Given the description of an element on the screen output the (x, y) to click on. 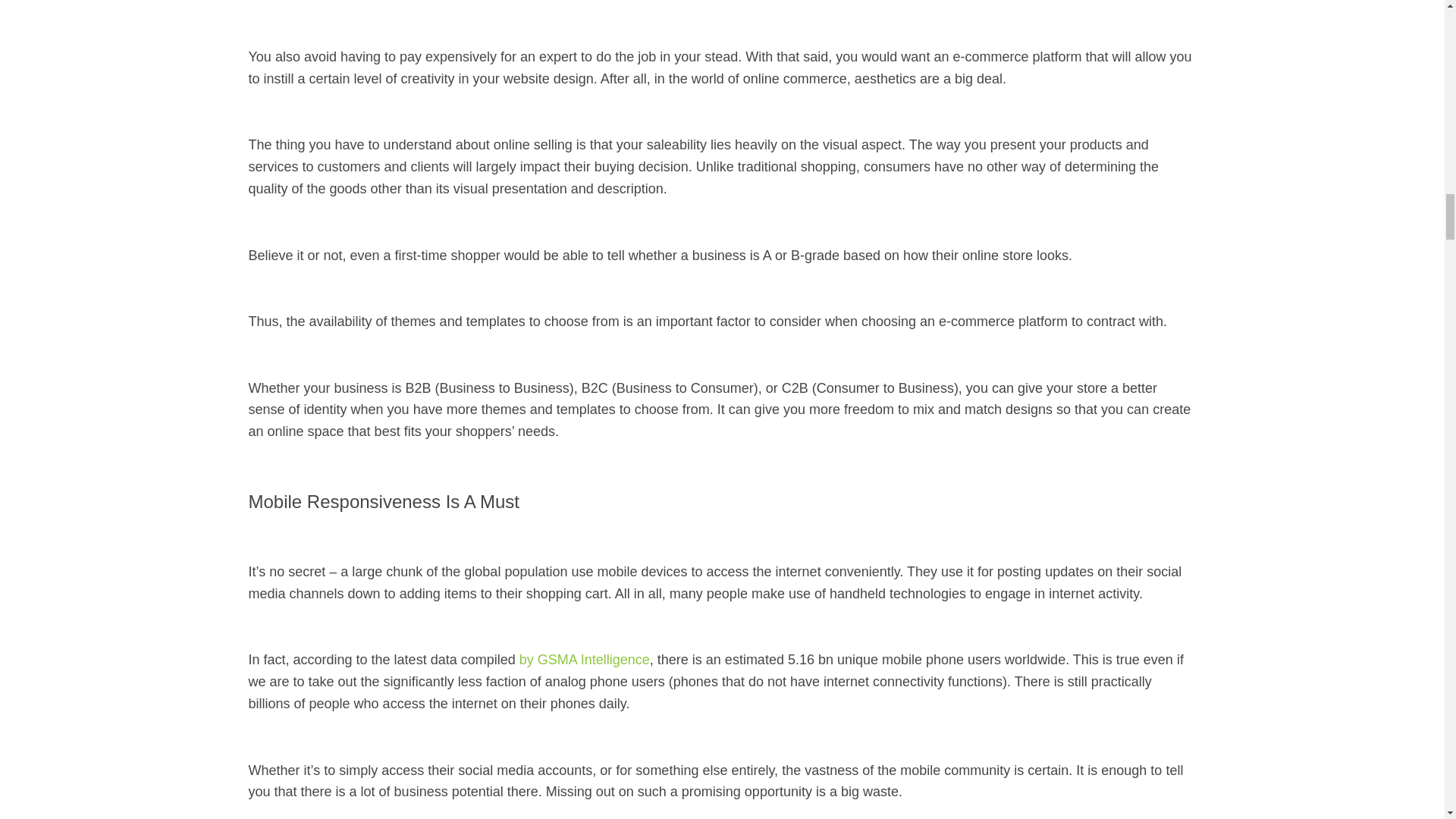
by GSMA Intelligence (584, 659)
